Given the description of an element on the screen output the (x, y) to click on. 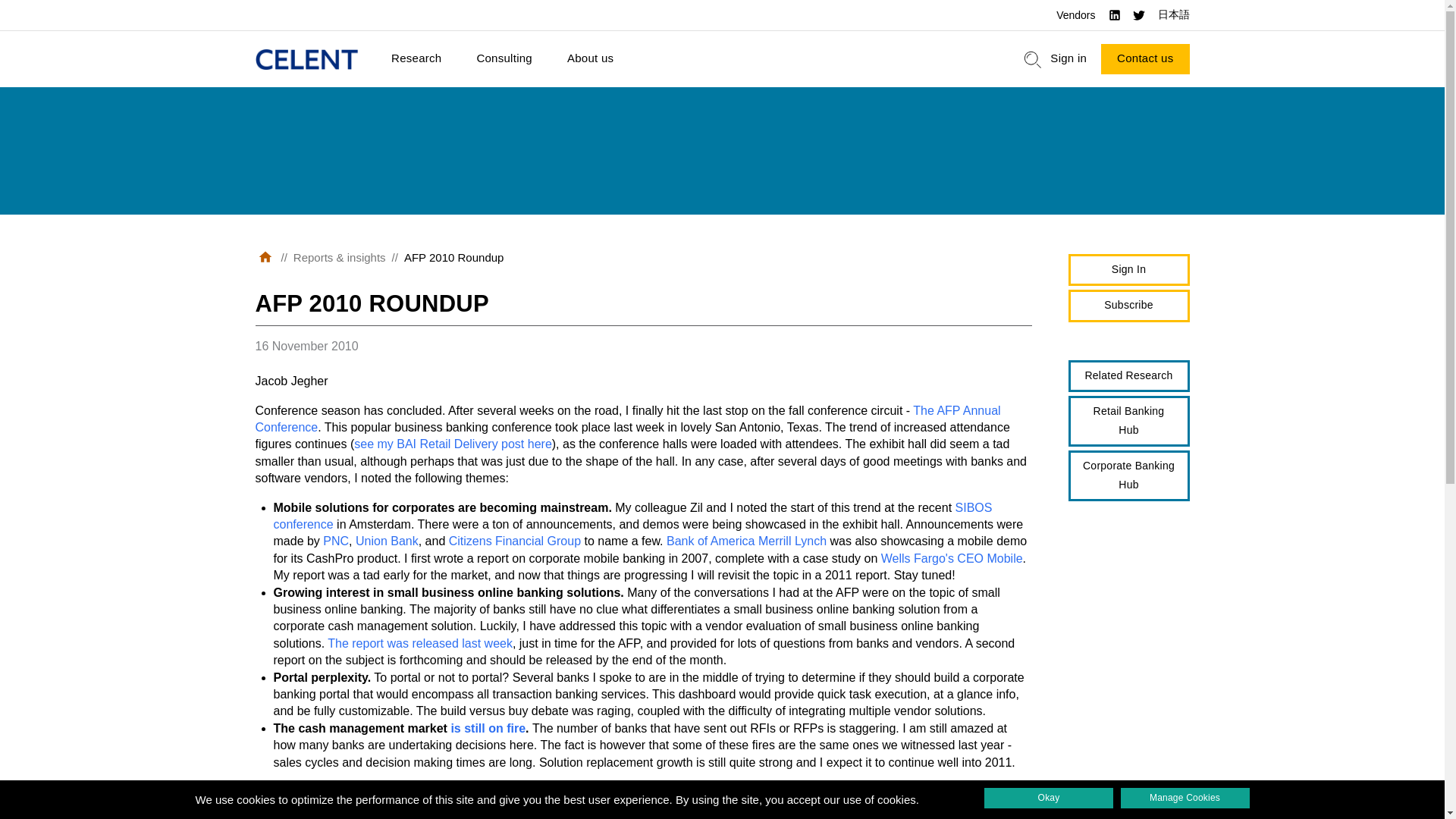
Okay (1048, 797)
Consulting (503, 59)
search (1032, 58)
Vendors (1075, 15)
About us (590, 59)
Home (306, 59)
Research (415, 59)
Contact us (1144, 59)
Sign in (1068, 59)
Manage Cookies (1185, 797)
